Given the description of an element on the screen output the (x, y) to click on. 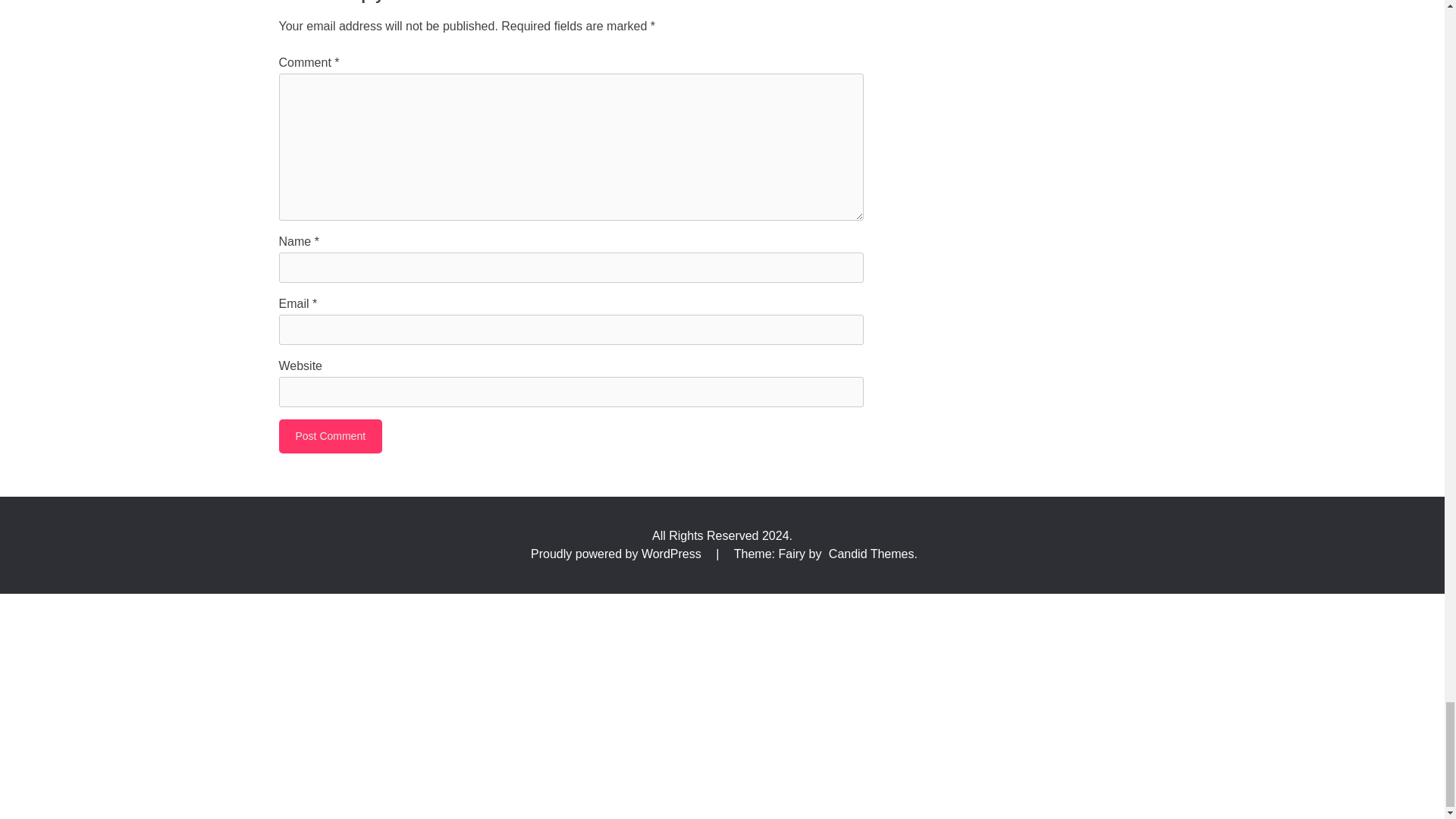
Post Comment (330, 436)
